Given the description of an element on the screen output the (x, y) to click on. 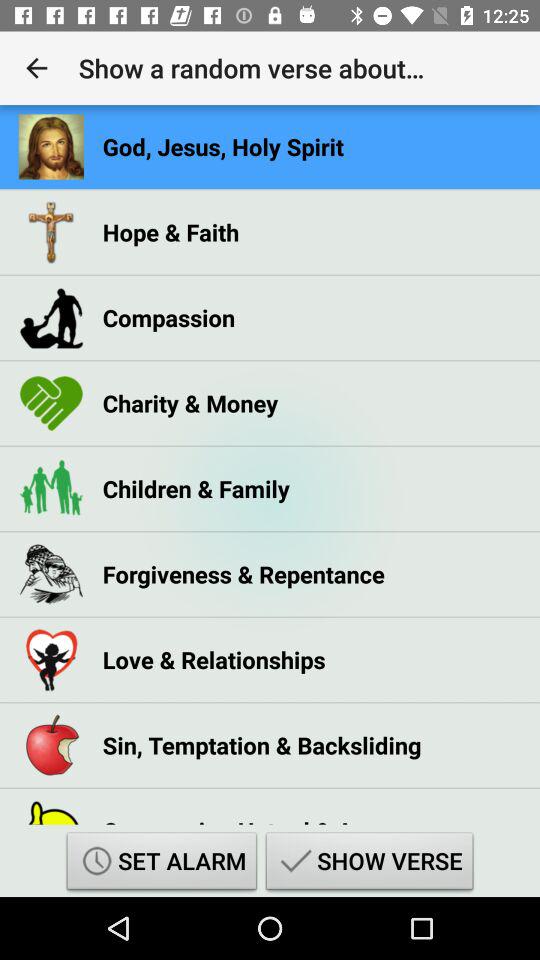
click the app to the left of show a random icon (36, 68)
